Given the description of an element on the screen output the (x, y) to click on. 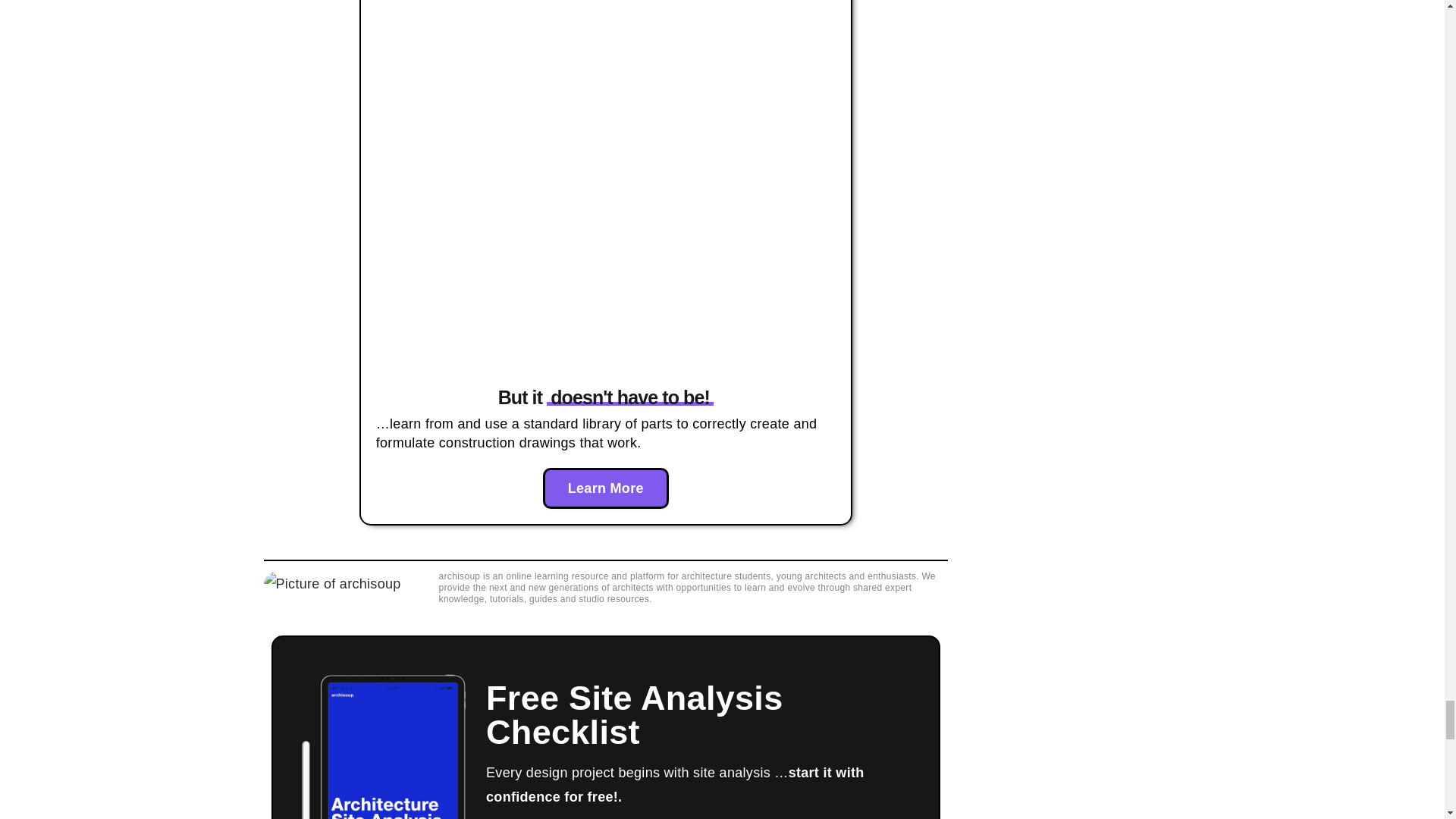
Learn More (605, 487)
